Given the description of an element on the screen output the (x, y) to click on. 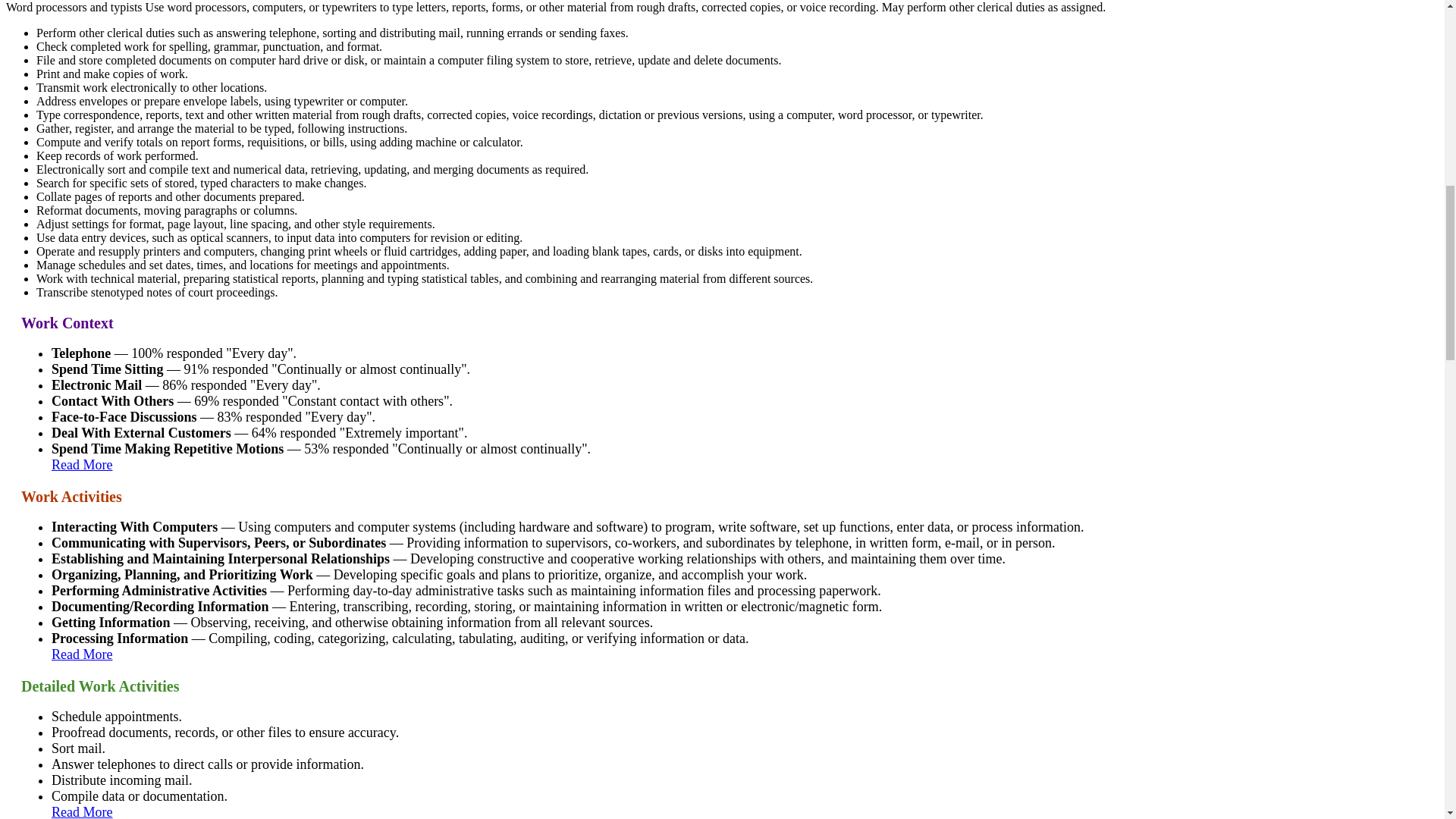
Read More (81, 464)
